Given the description of an element on the screen output the (x, y) to click on. 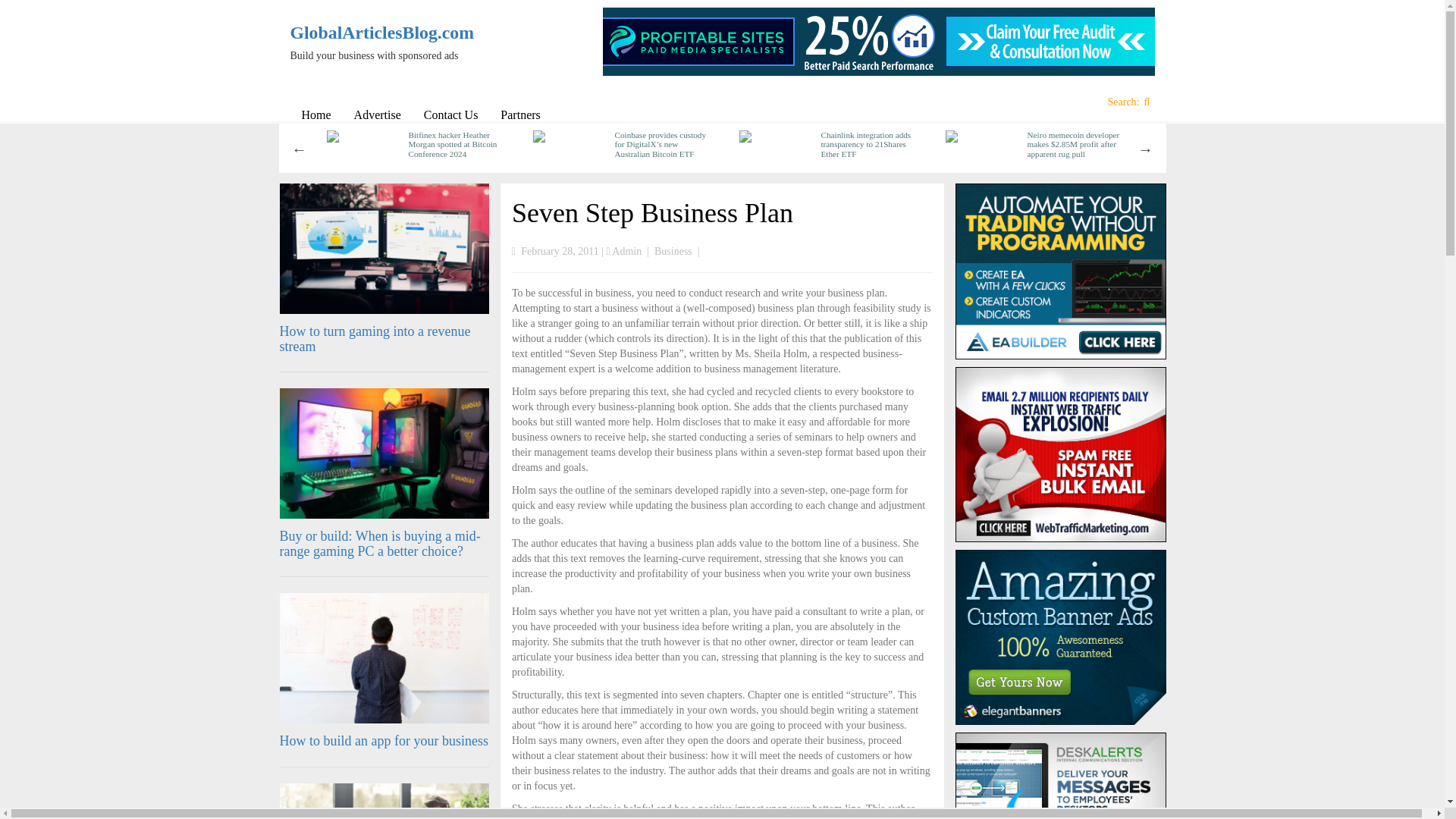
Advertise (377, 115)
Home (315, 115)
GlobalArticlesBlog.com (389, 32)
Partners (520, 115)
Previous (298, 149)
Posts by Admin (626, 251)
Contact Us (450, 115)
